Given the description of an element on the screen output the (x, y) to click on. 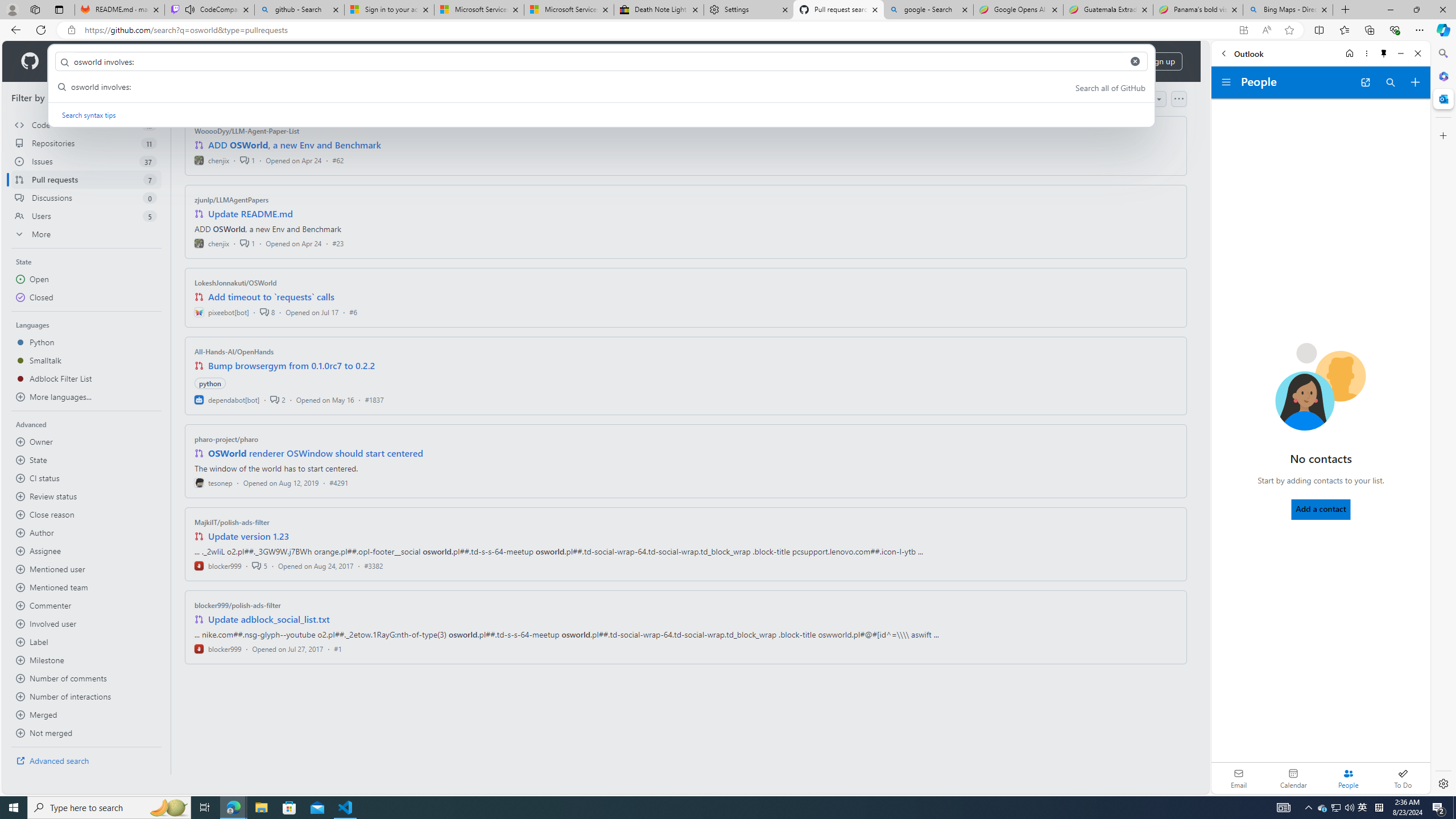
Calendar. Date today is 22 (1293, 777)
Enterprise (319, 60)
Sort by: Best match (1126, 98)
Product (74, 60)
Open Source (254, 60)
